Given the description of an element on the screen output the (x, y) to click on. 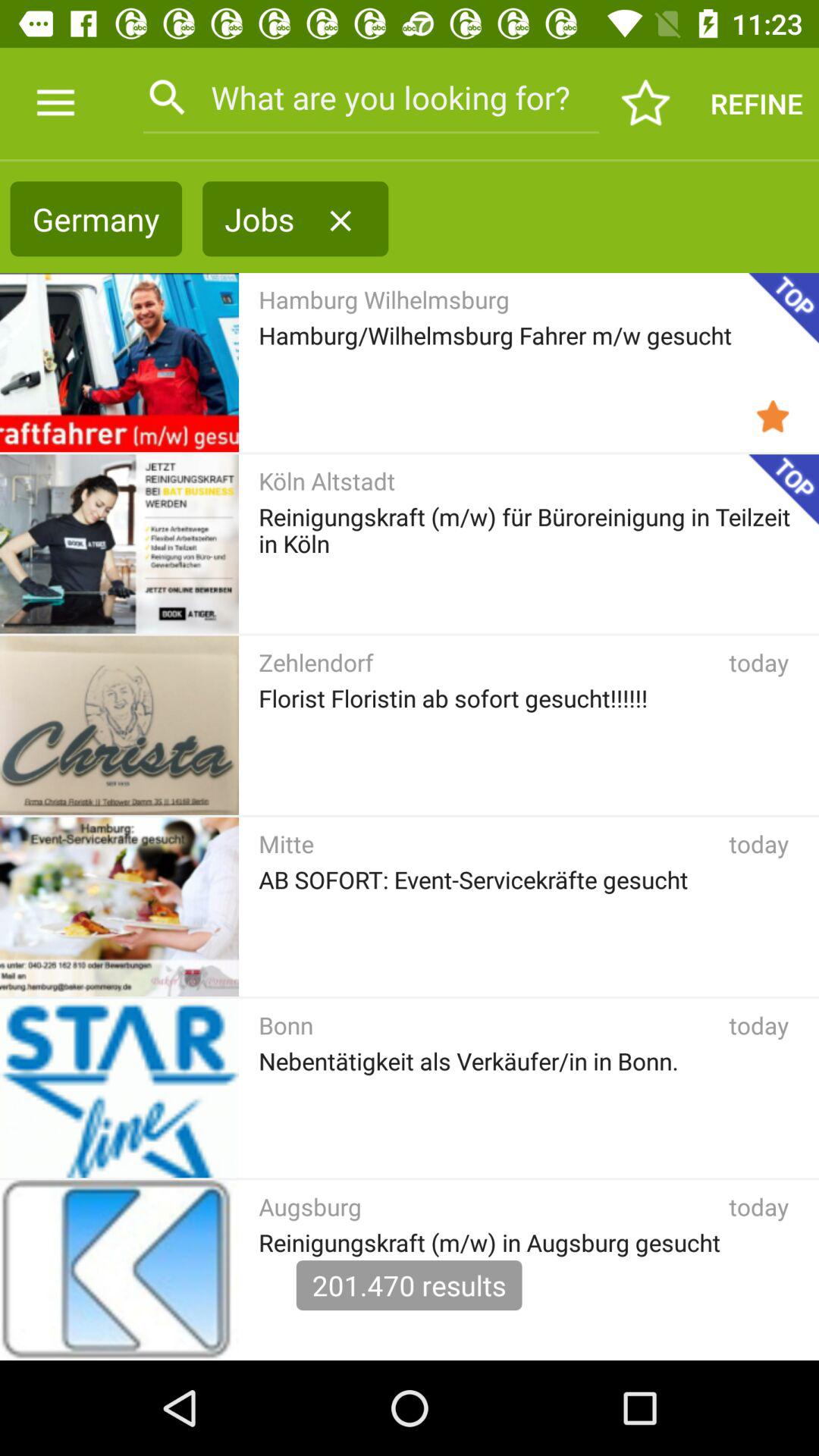
click the refine item (756, 103)
